Given the description of an element on the screen output the (x, y) to click on. 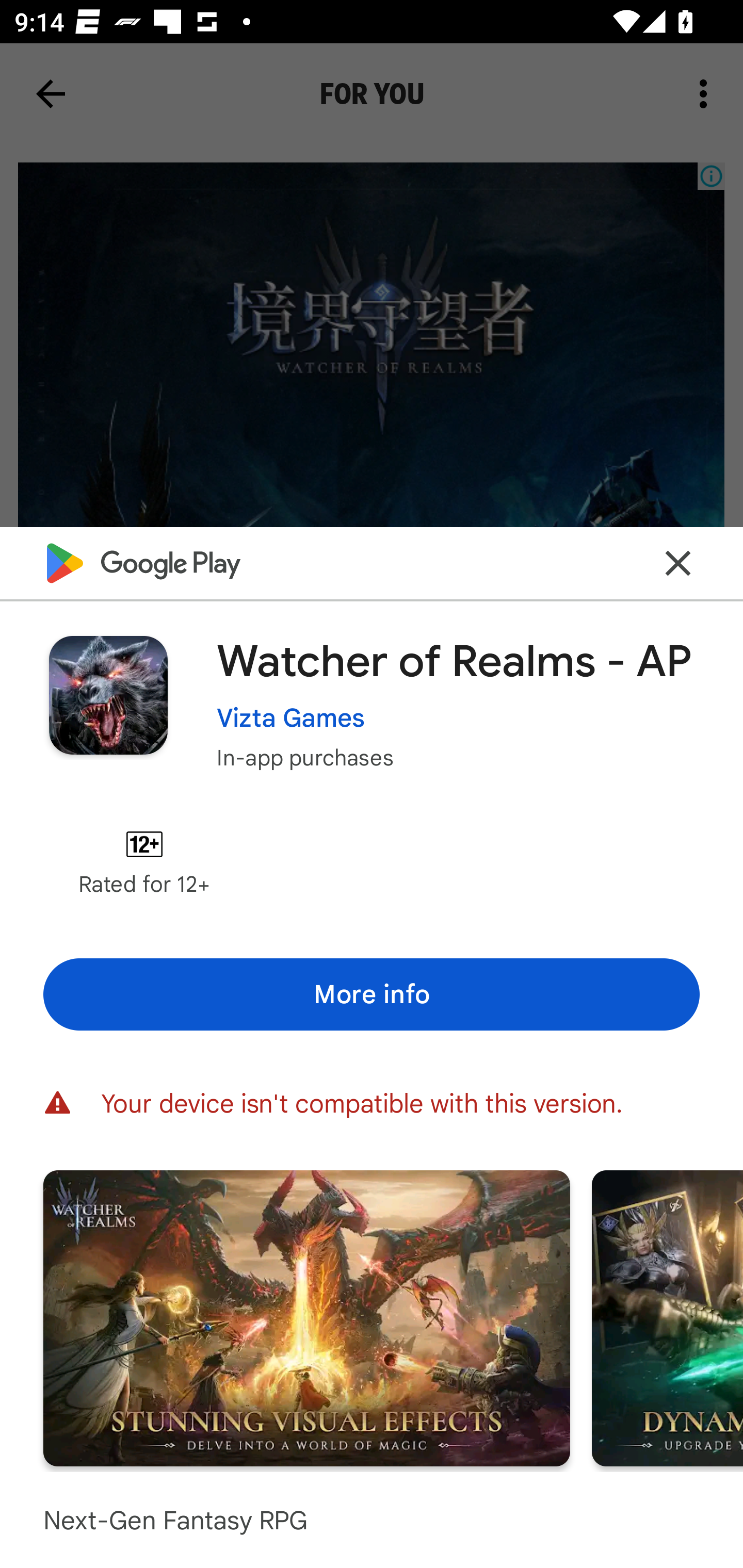
Close (677, 562)
Vizta Games (290, 716)
More info (371, 994)
Screenshot "1" of "7" (306, 1317)
